Given the description of an element on the screen output the (x, y) to click on. 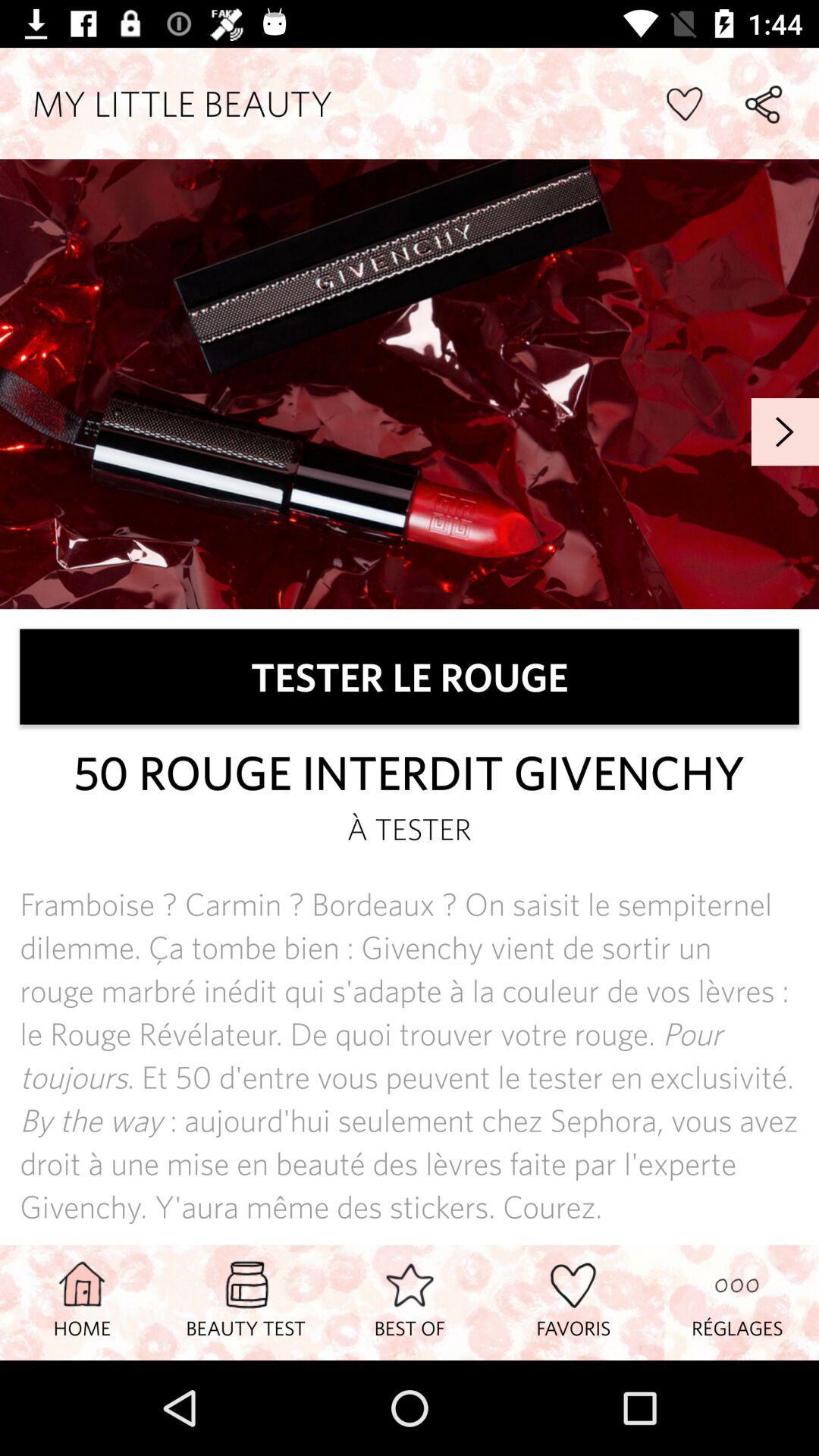
choose the item below the framboise carmin bordeaux (245, 1302)
